Given the description of an element on the screen output the (x, y) to click on. 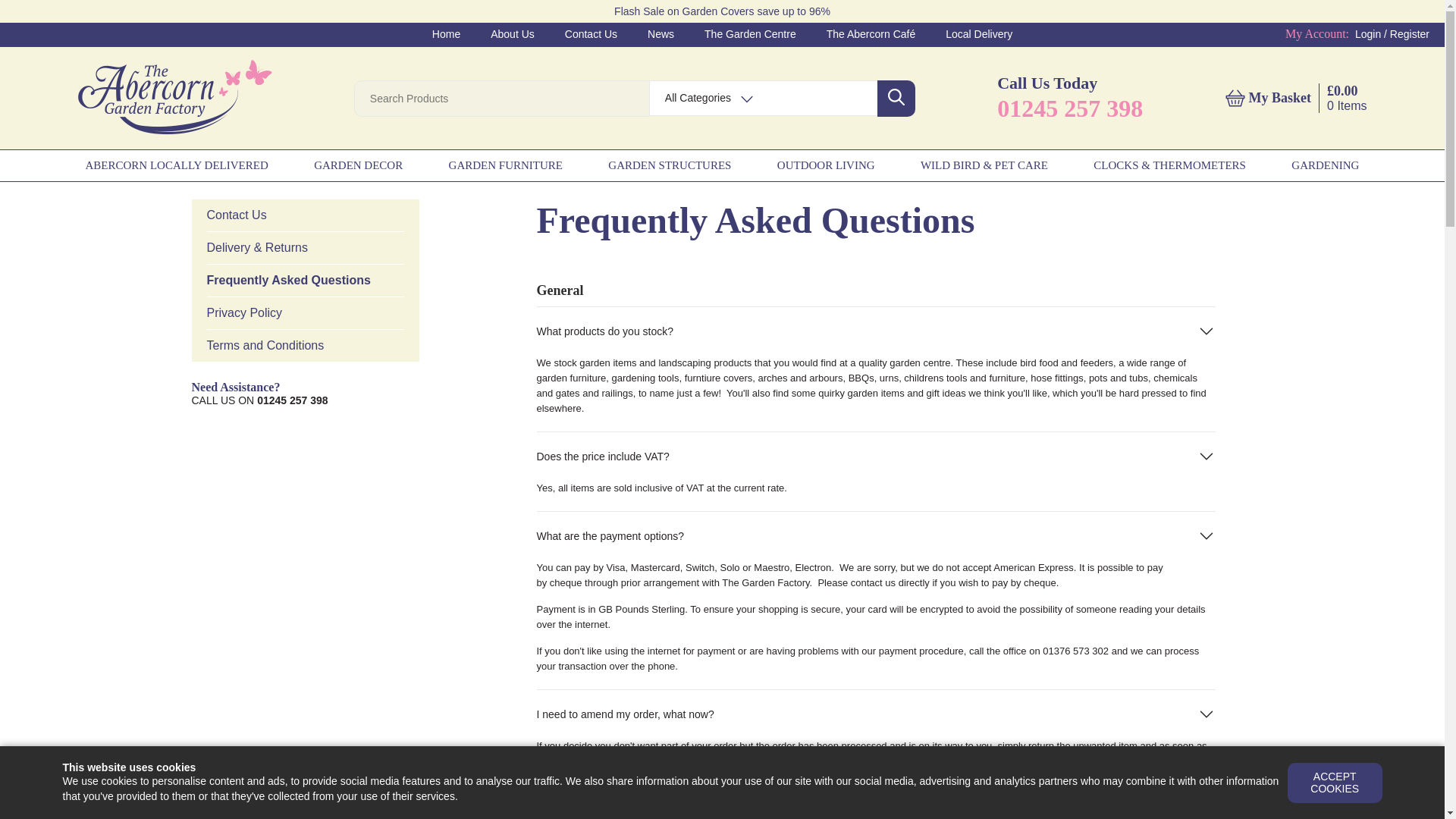
The Garden Centre (750, 33)
Home (446, 33)
ACCEPT COOKIES (1334, 782)
Contact Us (590, 33)
01245 257 398 (1069, 108)
About Us (512, 33)
All Categories (697, 97)
ABERCORN LOCALLY DELIVERED (176, 164)
Local Delivery (977, 33)
News (660, 33)
